Given the description of an element on the screen output the (x, y) to click on. 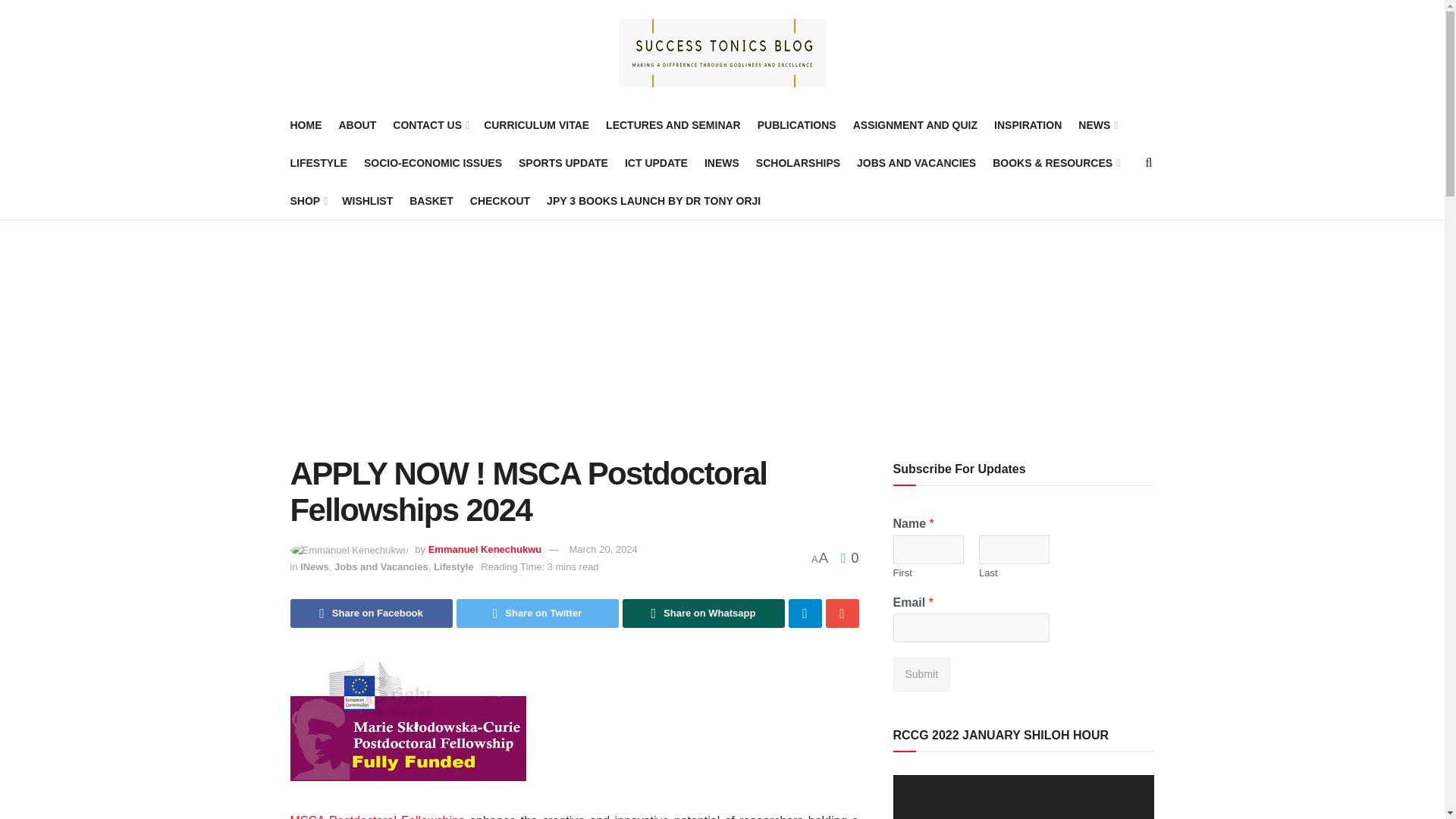
ABOUT (356, 124)
LIFESTYLE (317, 162)
HOME (305, 124)
JOBS AND VACANCIES (916, 162)
SCHOLARSHIPS (797, 162)
SHOP (306, 200)
SOCIO-ECONOMIC ISSUES (433, 162)
SPORTS UPDATE (563, 162)
CONTACT US (430, 124)
BASKET (430, 200)
PUBLICATIONS (796, 124)
WISHLIST (367, 200)
CURRICULUM VITAE (536, 124)
ASSIGNMENT AND QUIZ (914, 124)
